Given the description of an element on the screen output the (x, y) to click on. 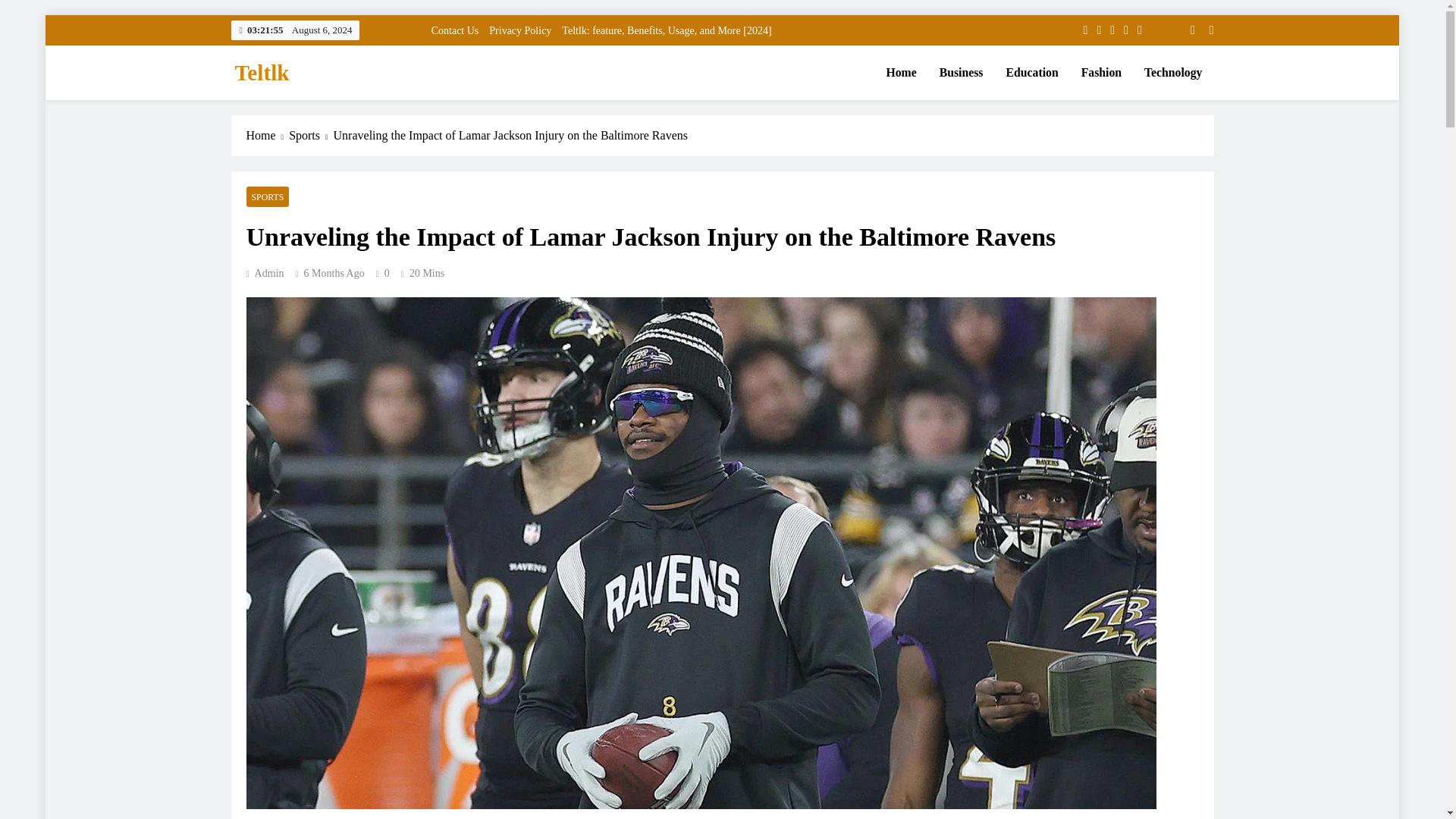
Home (901, 72)
Education (1032, 72)
Business (961, 72)
Admin (264, 273)
Technology (1172, 72)
Sports (310, 135)
Privacy Policy (520, 30)
SPORTS (267, 196)
6 Months Ago (334, 273)
